Given the description of an element on the screen output the (x, y) to click on. 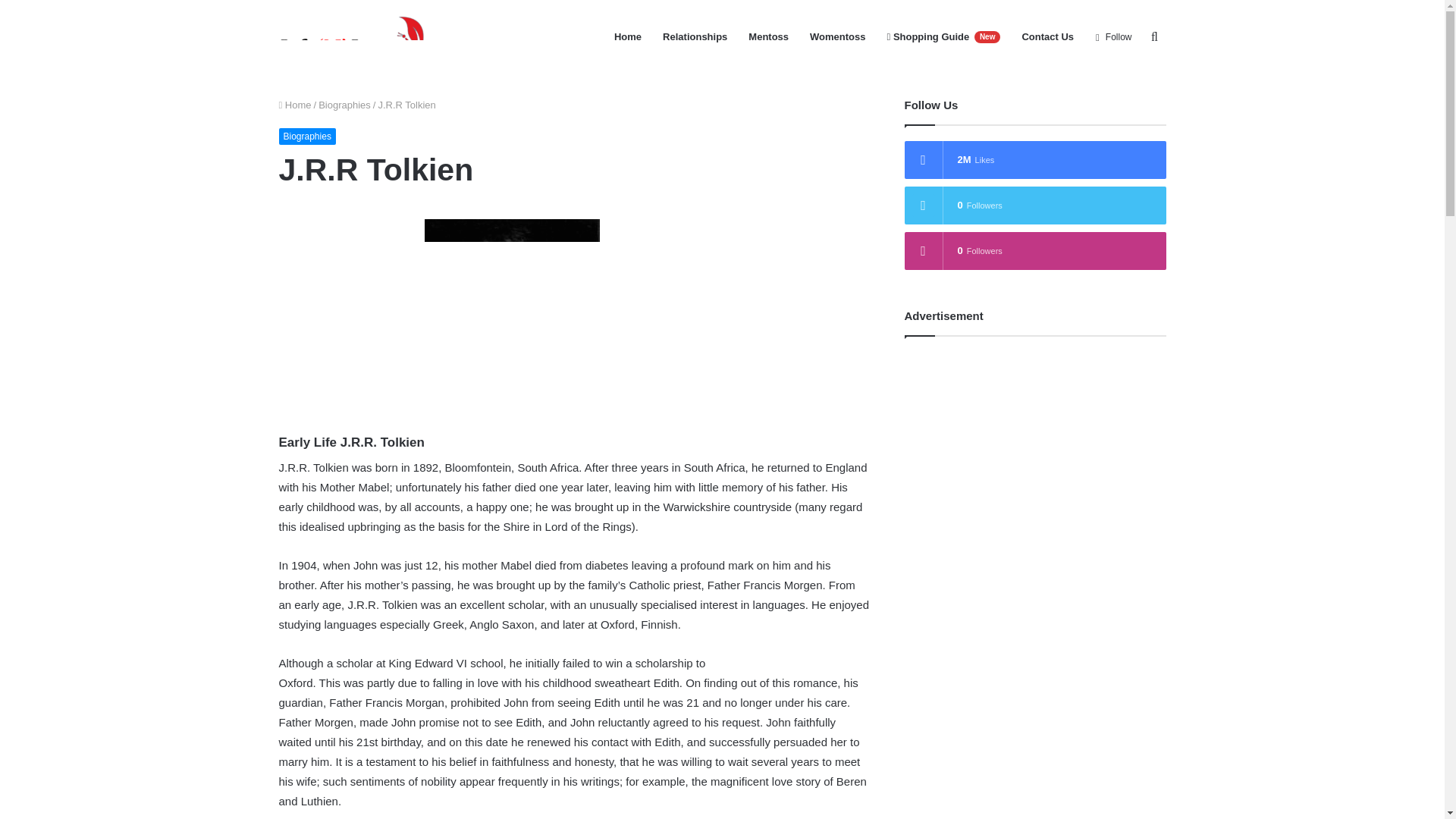
Biographies (307, 135)
Womentoss (837, 37)
Biographies (344, 104)
Shopping Guide New (943, 37)
Relationships (695, 37)
Life 'N' Lesson (360, 36)
Contact Us (1047, 37)
Home (295, 104)
